Given the description of an element on the screen output the (x, y) to click on. 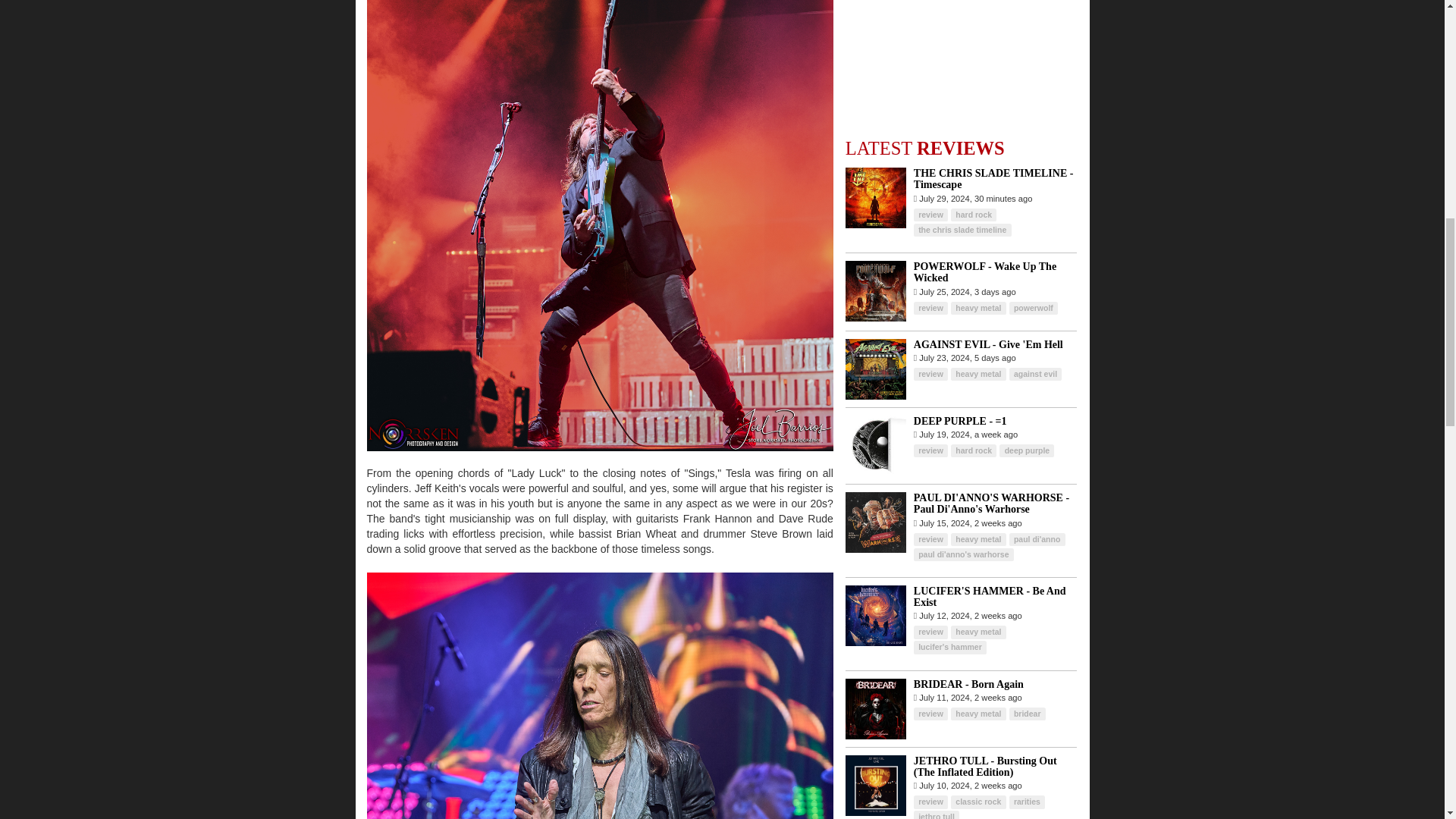
3rd party ad content (961, 23)
3rd party ad content (961, 84)
